Given the description of an element on the screen output the (x, y) to click on. 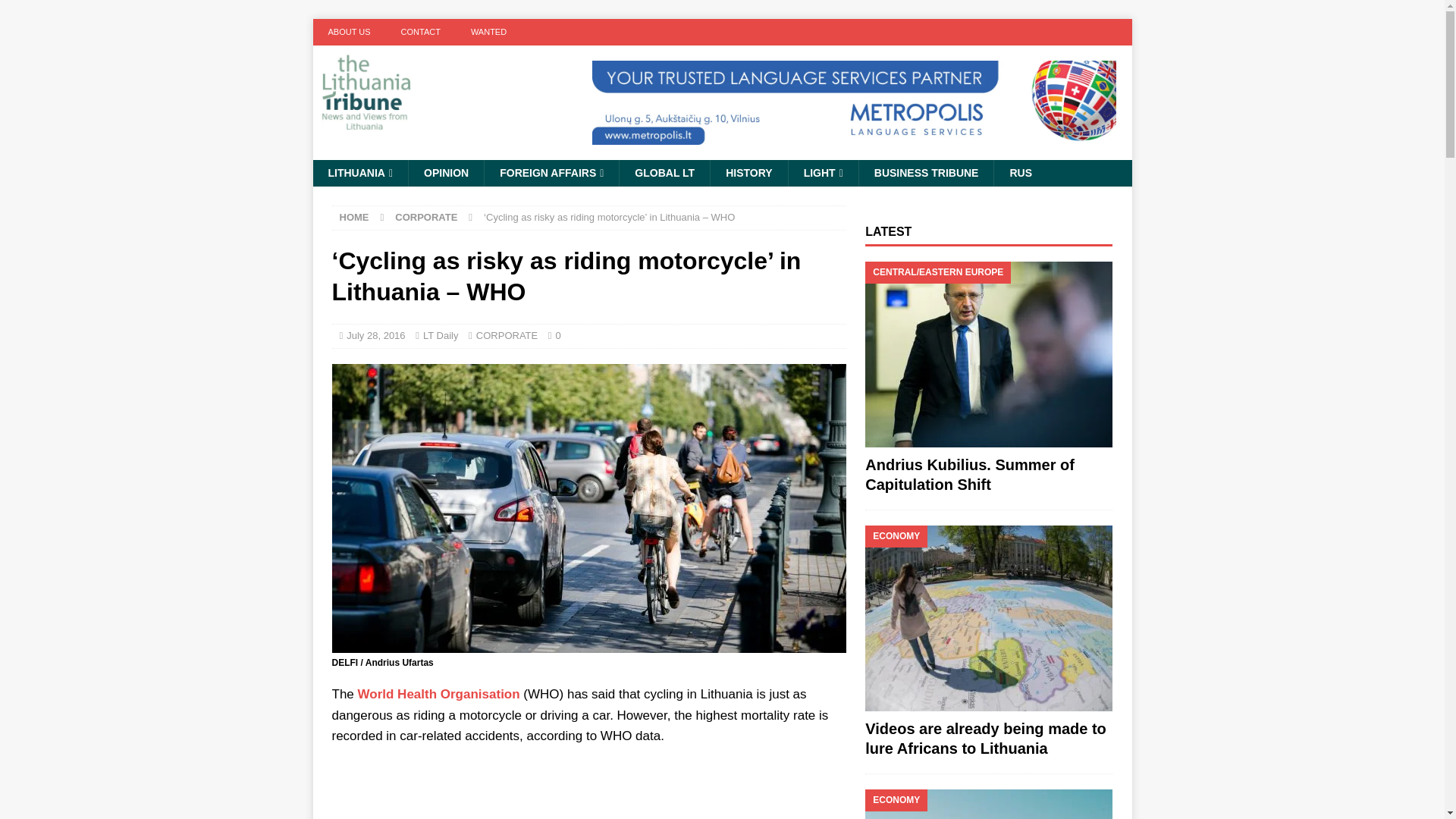
World Health Organisation (438, 694)
LITHUANIA (360, 172)
CONTACT (420, 31)
ABOUT US (349, 31)
WANTED (488, 31)
